Given the description of an element on the screen output the (x, y) to click on. 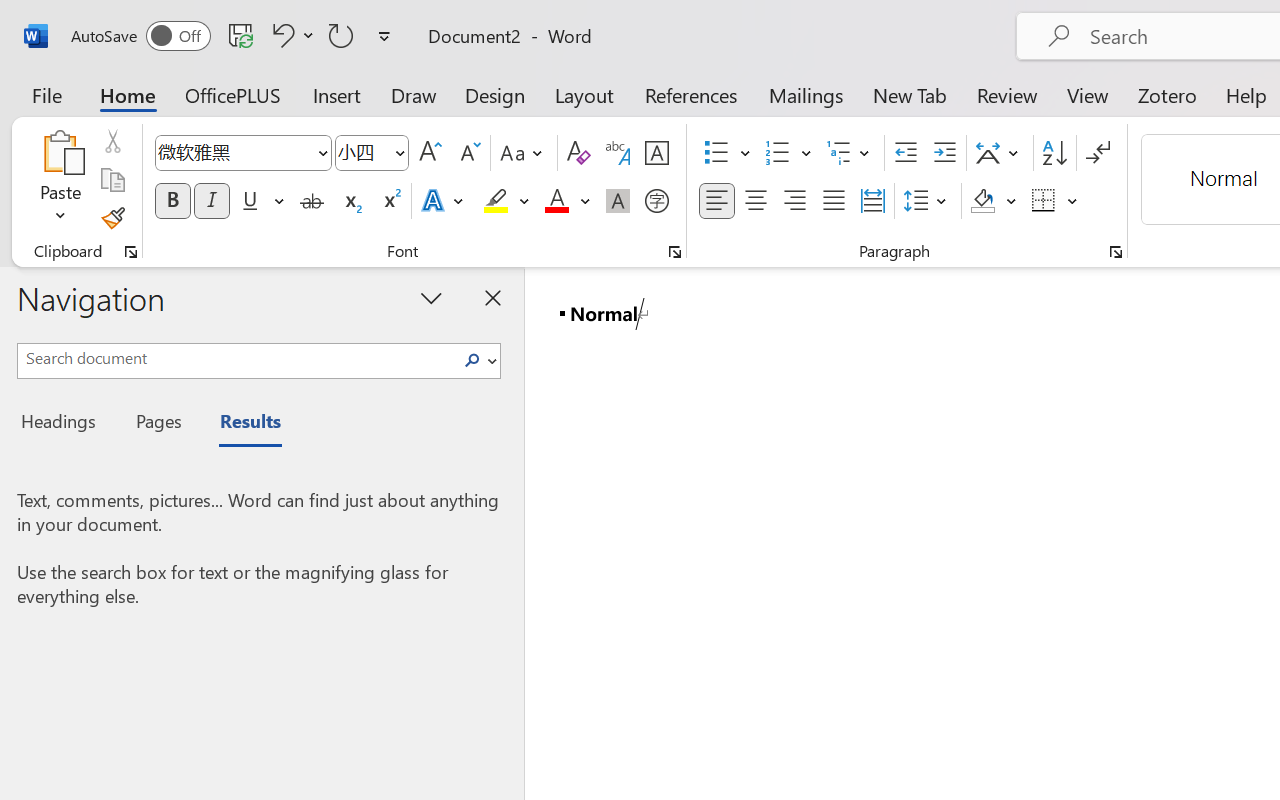
Draw (413, 94)
Results (240, 424)
Font Color Red (556, 201)
Headings (64, 424)
Borders (1044, 201)
Font (234, 152)
Open (399, 152)
Align Right (794, 201)
Grow Font (430, 153)
Subscript (350, 201)
Text Effects and Typography (444, 201)
Copy (112, 179)
Bullets (716, 153)
Character Shading (618, 201)
Shading (993, 201)
